Given the description of an element on the screen output the (x, y) to click on. 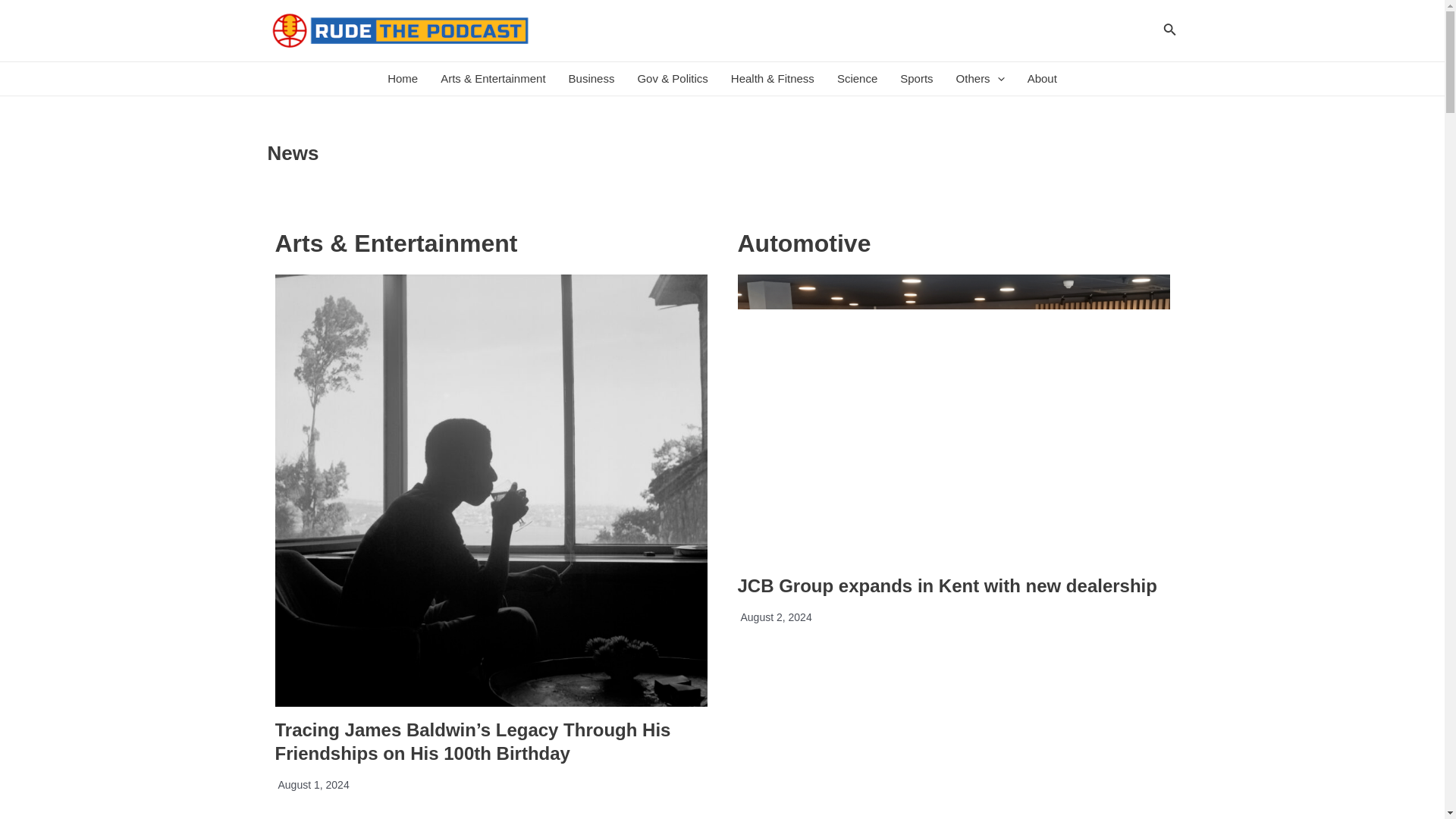
Others (980, 78)
Sports (915, 78)
Home (402, 78)
Science (856, 78)
Business (591, 78)
About (1042, 78)
